Given the description of an element on the screen output the (x, y) to click on. 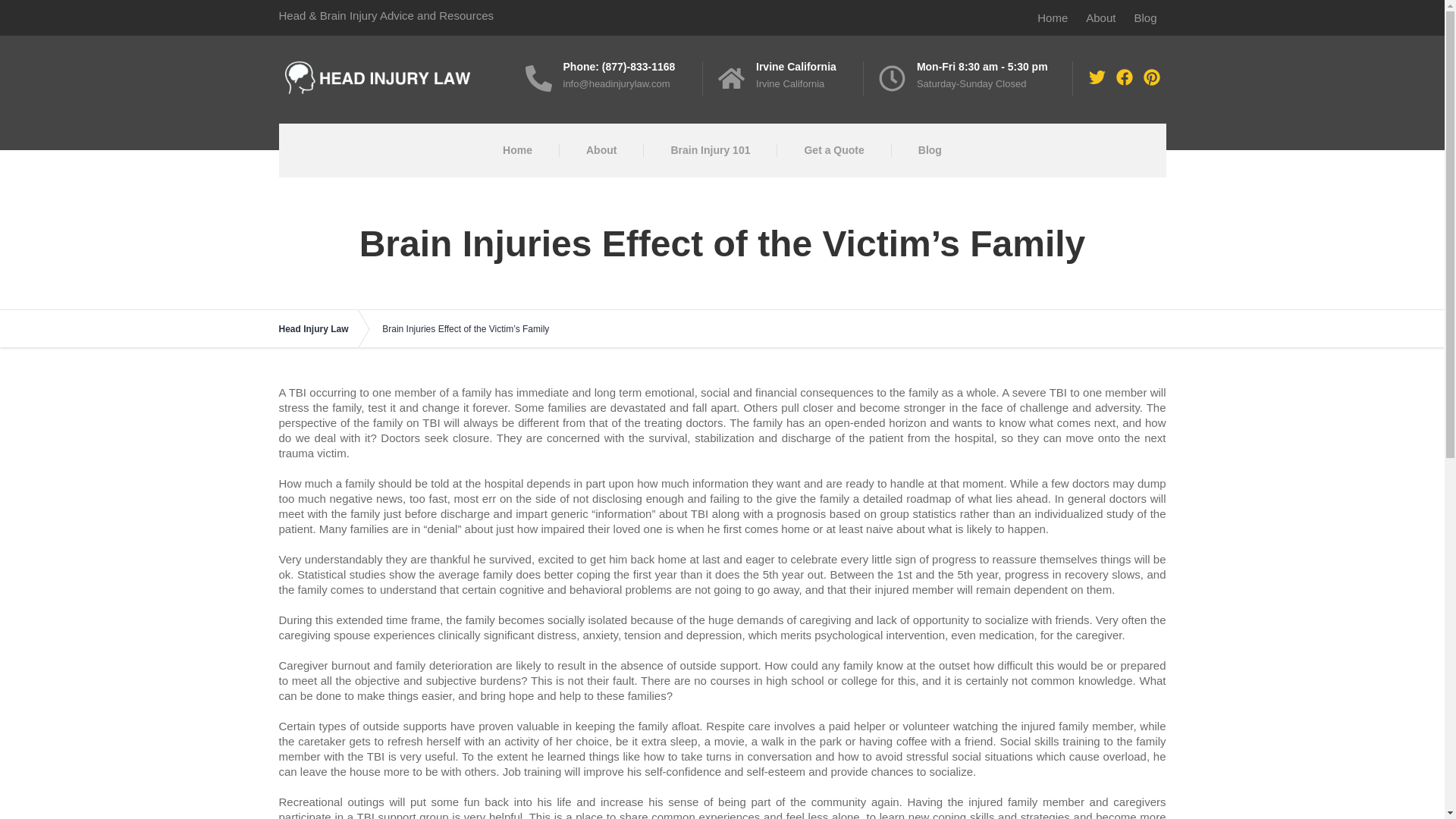
About (601, 150)
About (1100, 16)
Brain Injury 101 (709, 150)
Get a Quote (833, 150)
Blog (1145, 16)
Home (1052, 16)
Blog (929, 150)
Home (517, 150)
